Given the description of an element on the screen output the (x, y) to click on. 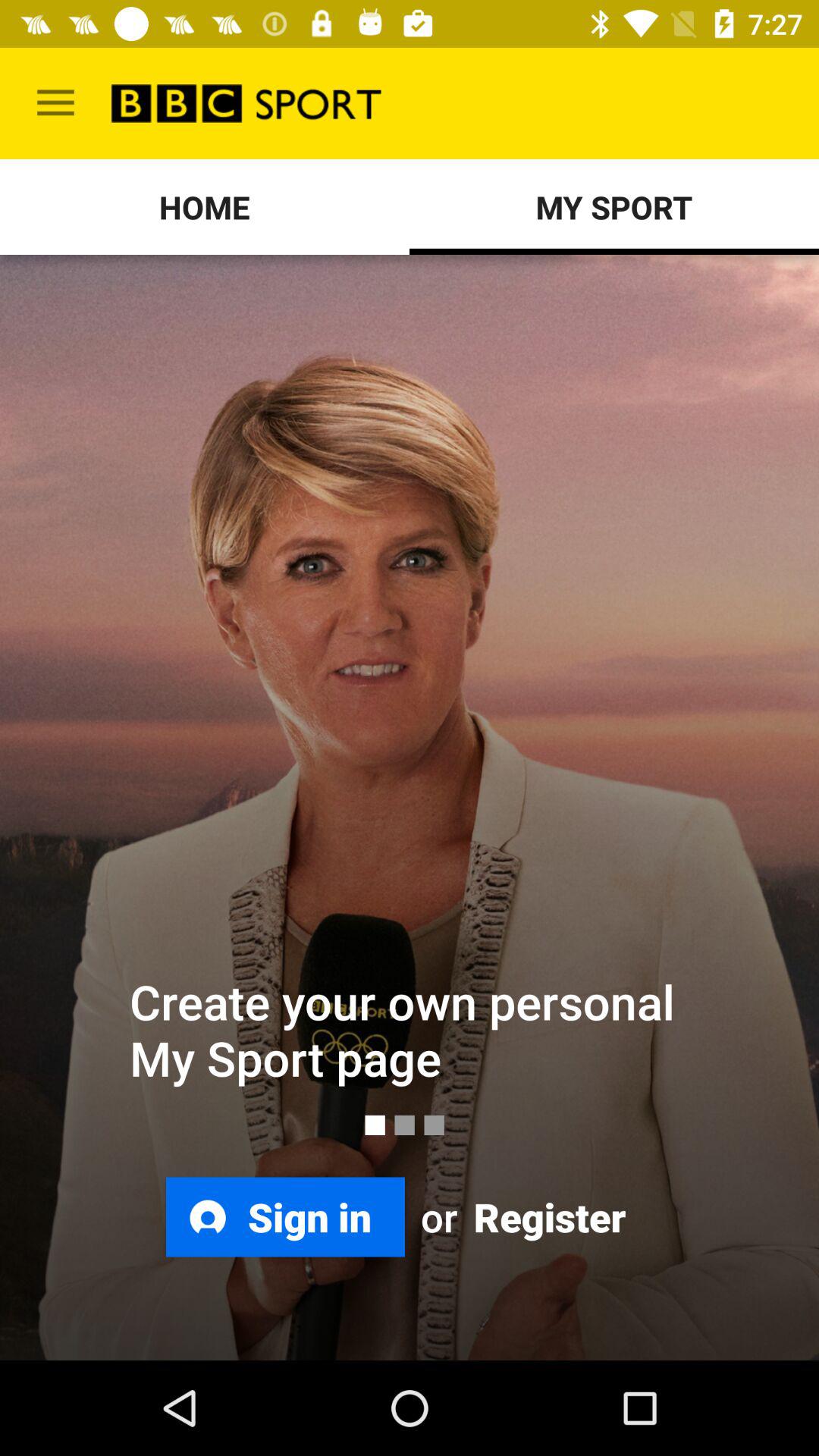
swipe to the register item (547, 1216)
